Given the description of an element on the screen output the (x, y) to click on. 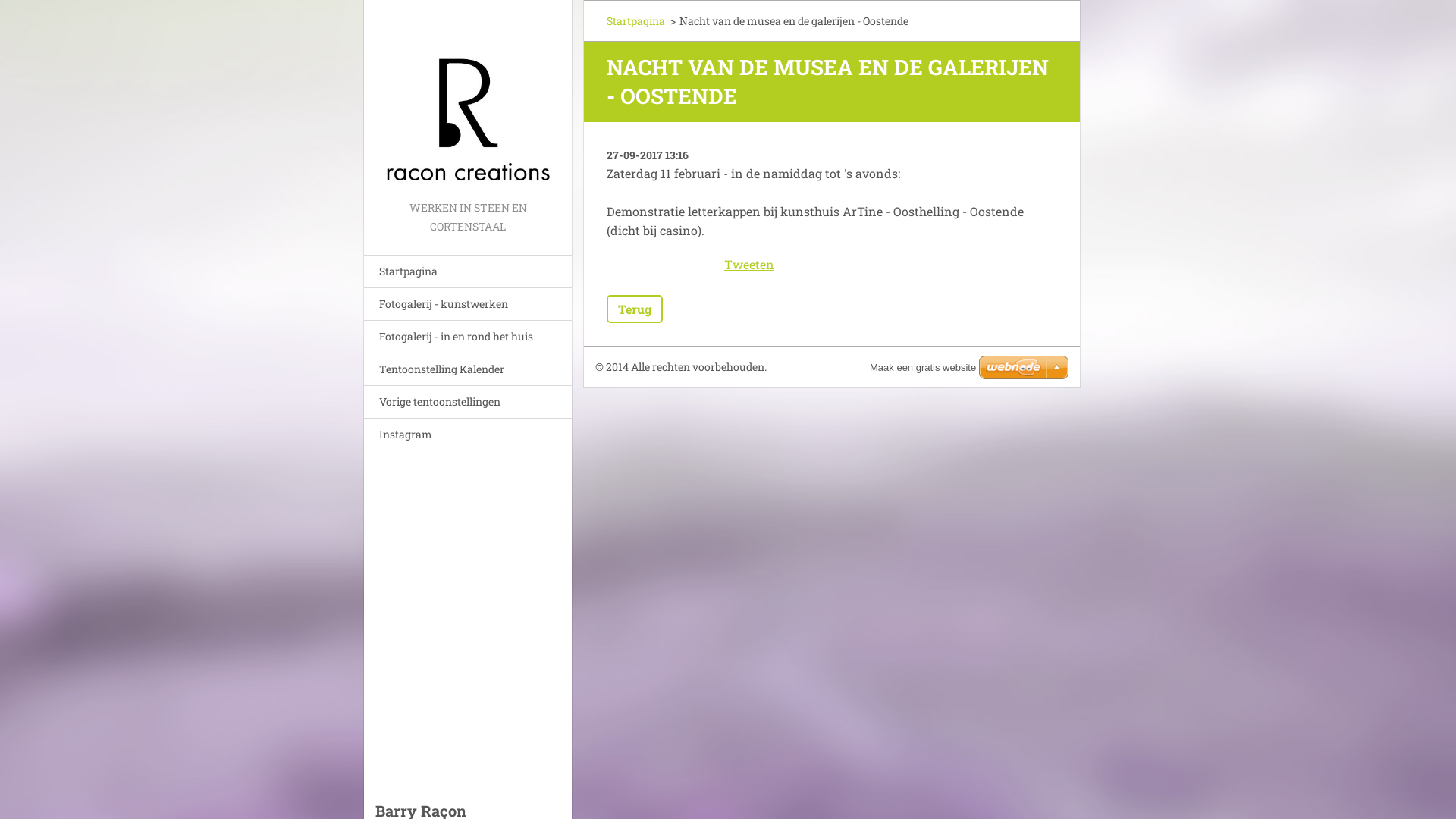
Terug Element type: text (634, 308)
Maak een gratis website Element type: text (922, 367)
Startpagina Element type: text (467, 270)
Ga naar homepagina Element type: hover (467, 98)
Fotogalerij - kunstwerken Element type: text (467, 303)
Tweeten Element type: text (749, 264)
Tentoonstelling Kalender Element type: text (467, 368)
Fotogalerij - in en rond het huis Element type: text (467, 336)
Startpagina Element type: text (635, 20)
Vorige tentoonstellingen Element type: text (467, 401)
Instagram Element type: text (467, 433)
